Given the description of an element on the screen output the (x, y) to click on. 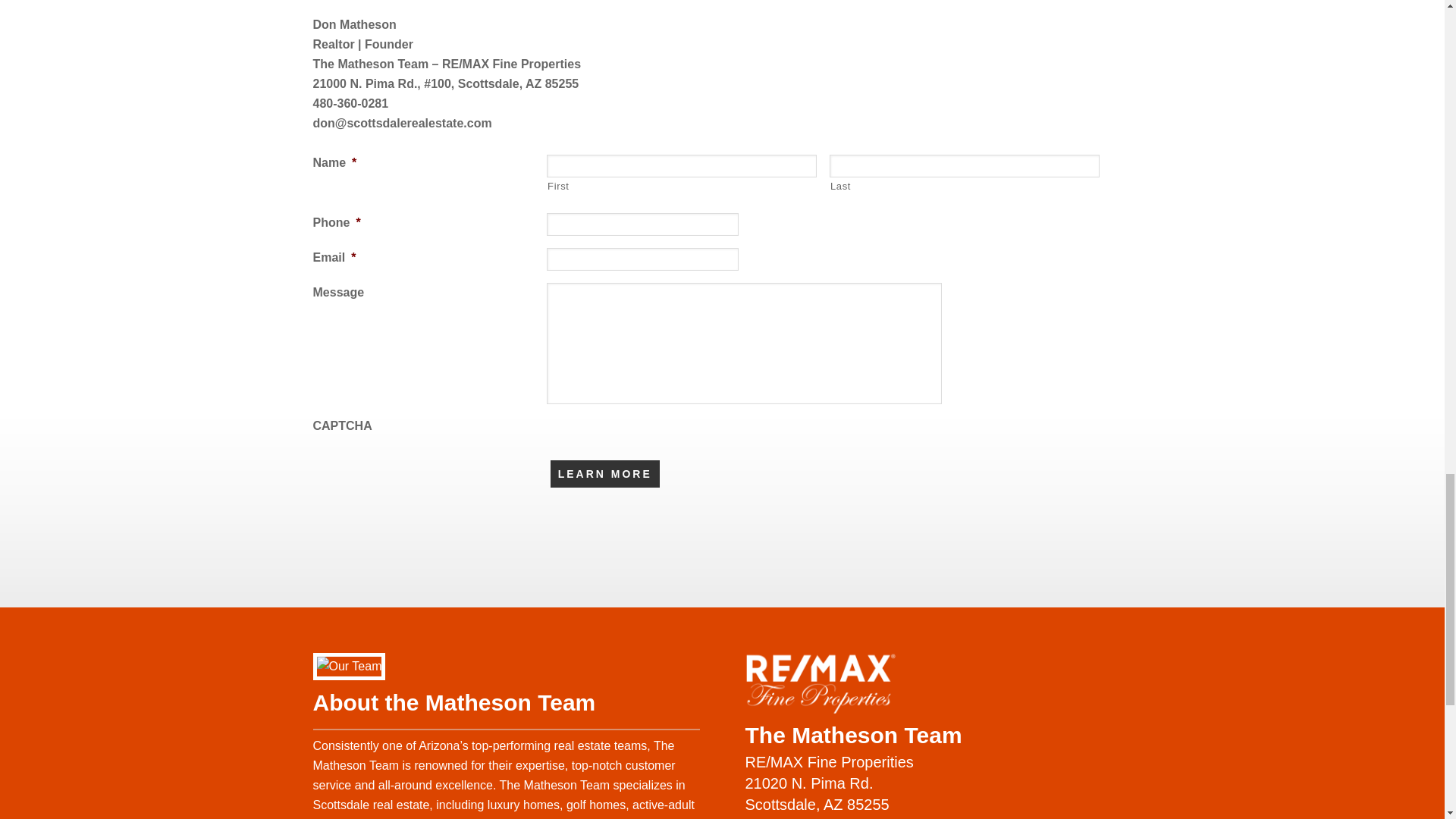
Learn More (604, 473)
Learn More (604, 473)
